Given the description of an element on the screen output the (x, y) to click on. 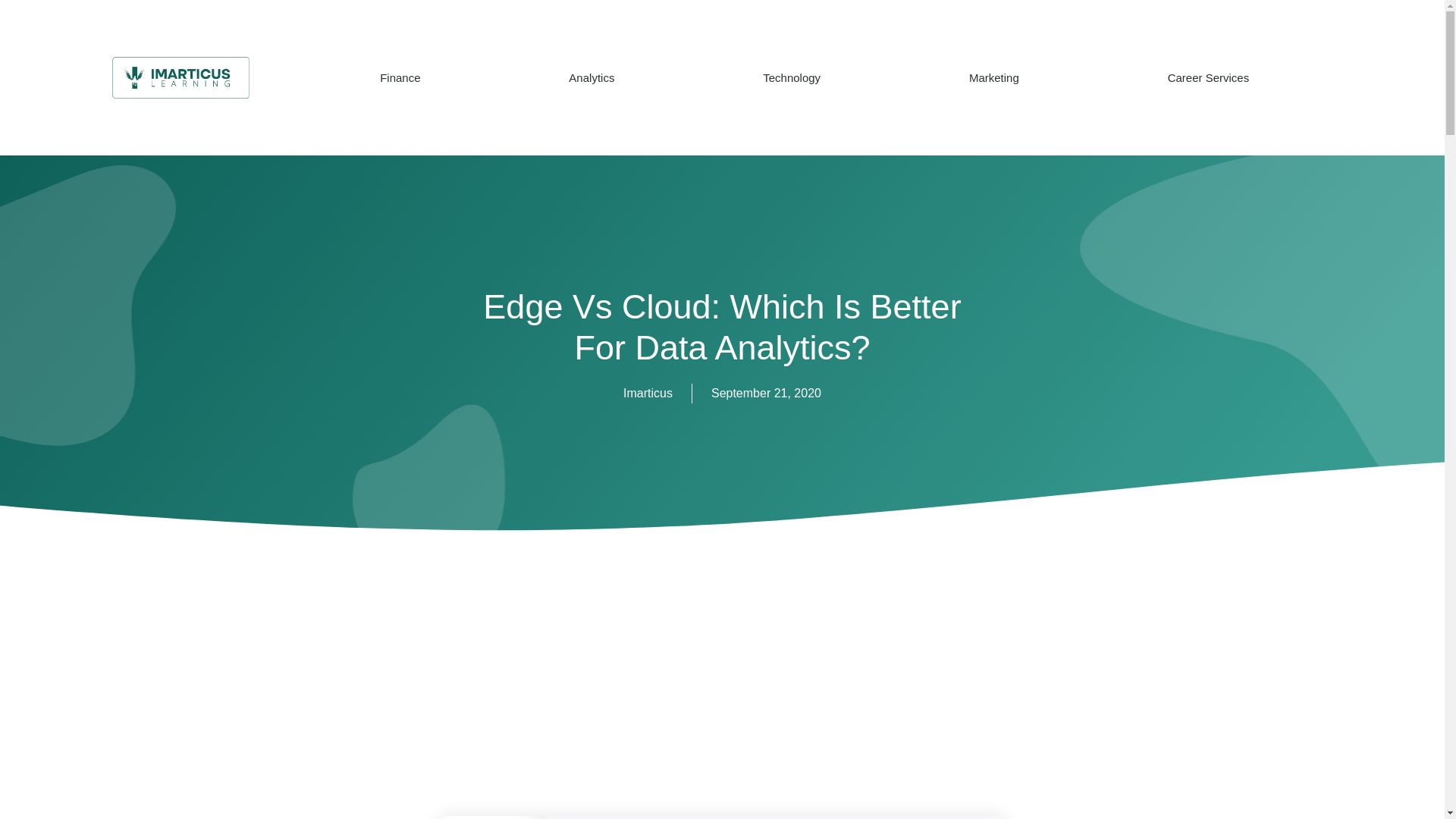
Technology (791, 77)
Imarticus (647, 393)
September 21, 2020 (766, 393)
Career Services (1208, 77)
Marketing (994, 77)
Analytics (591, 77)
Finance (400, 77)
